Given the description of an element on the screen output the (x, y) to click on. 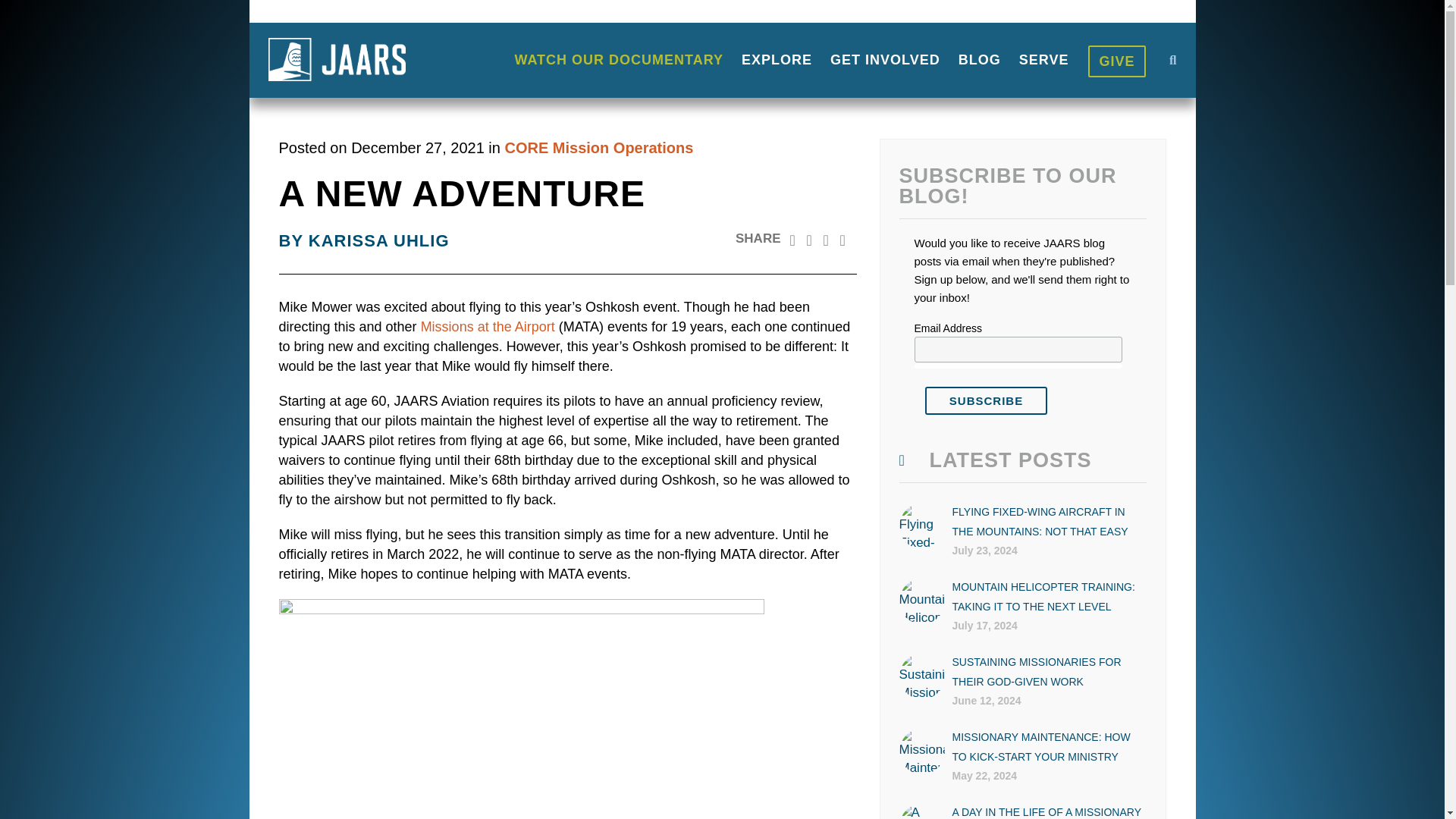
WATCH OUR DOCUMENTARY (618, 59)
EXPLORE (776, 59)
Subscribe (985, 400)
